Given the description of an element on the screen output the (x, y) to click on. 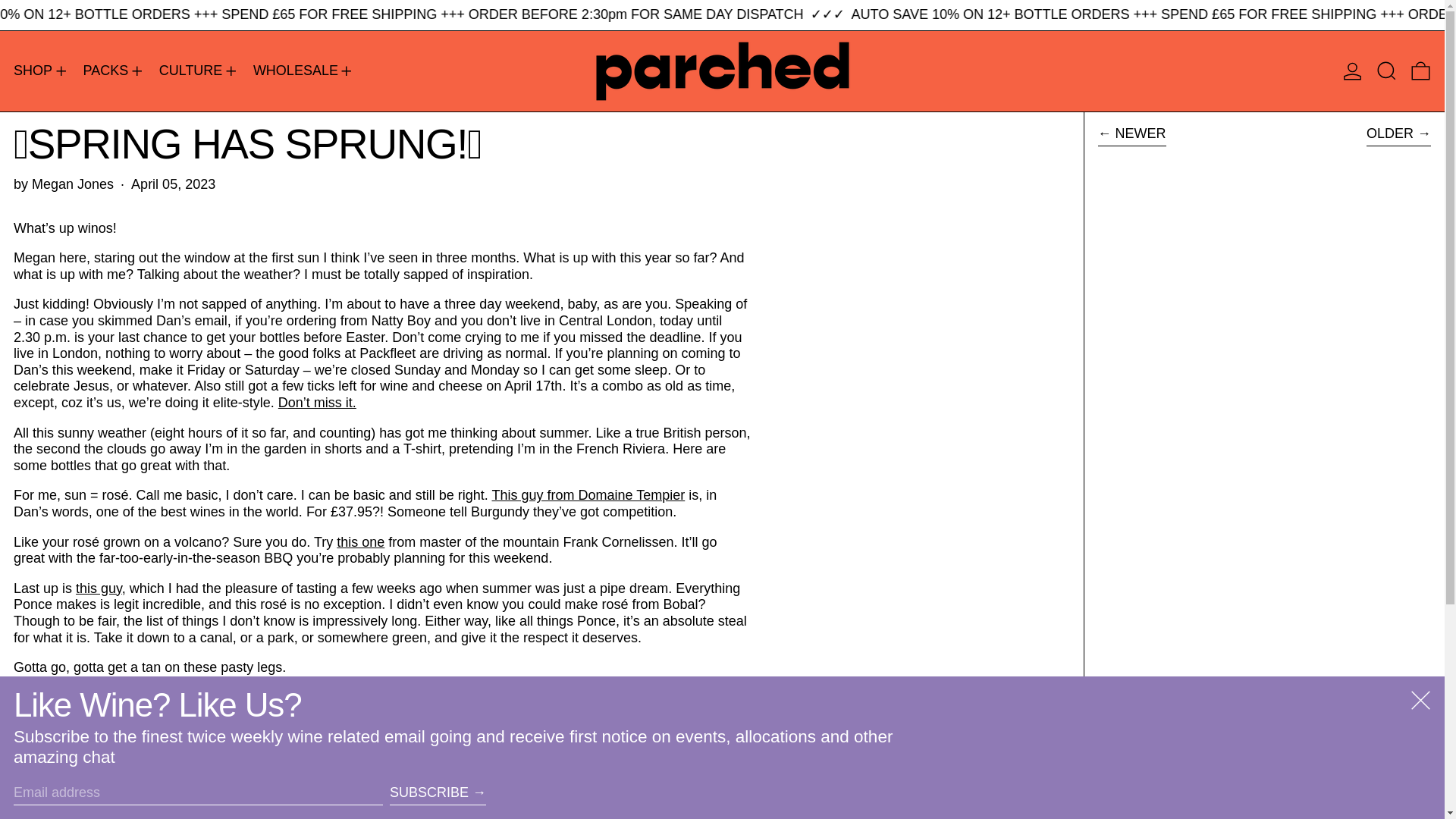
Older (1399, 136)
this guy (98, 588)
This guy from Domaine Tempier (588, 494)
Newer (1131, 136)
CULTURE (199, 71)
WHOLESALE (304, 71)
this one (360, 541)
